Given the description of an element on the screen output the (x, y) to click on. 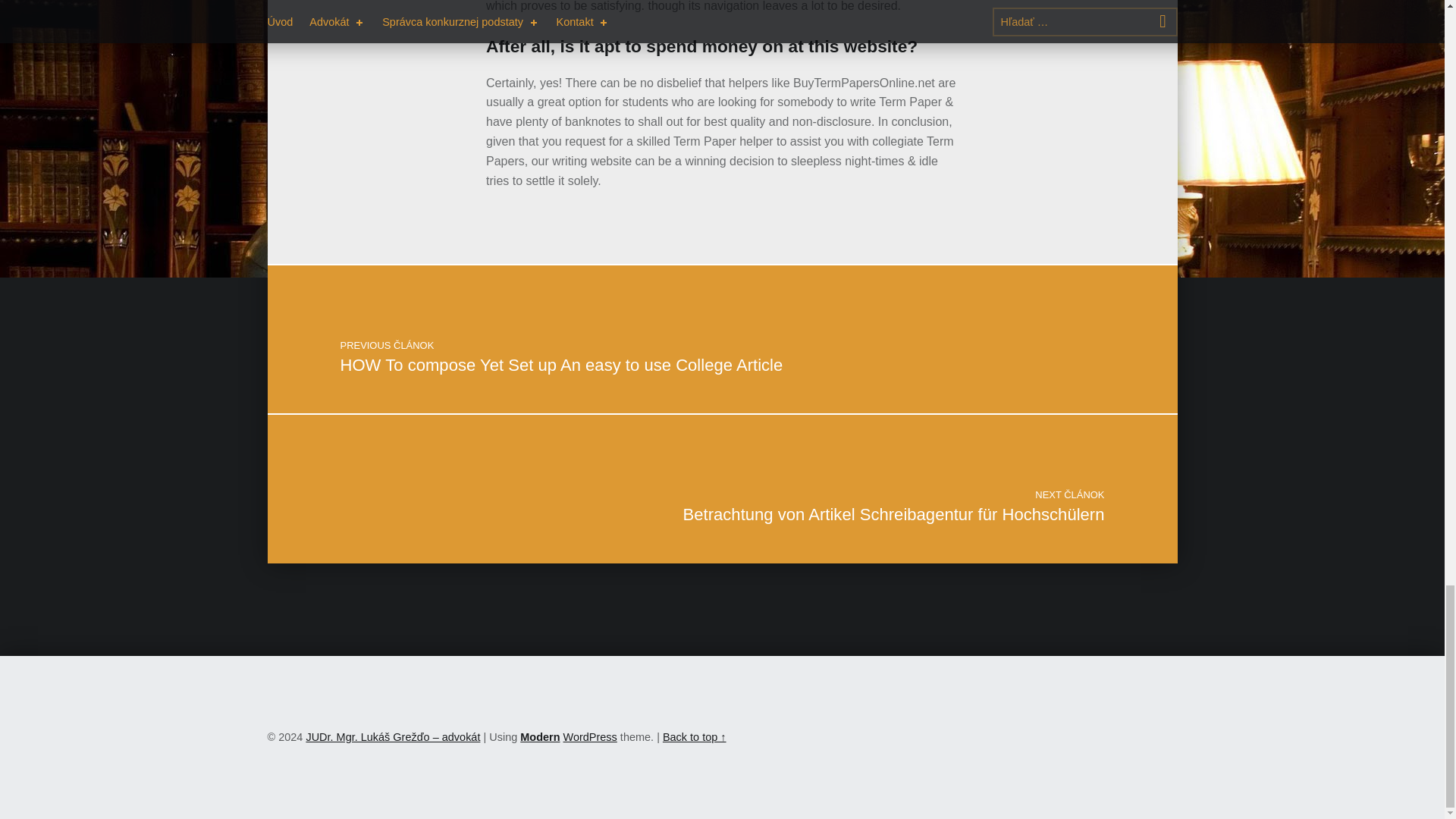
Modern (539, 736)
WordPress (590, 736)
